Given the description of an element on the screen output the (x, y) to click on. 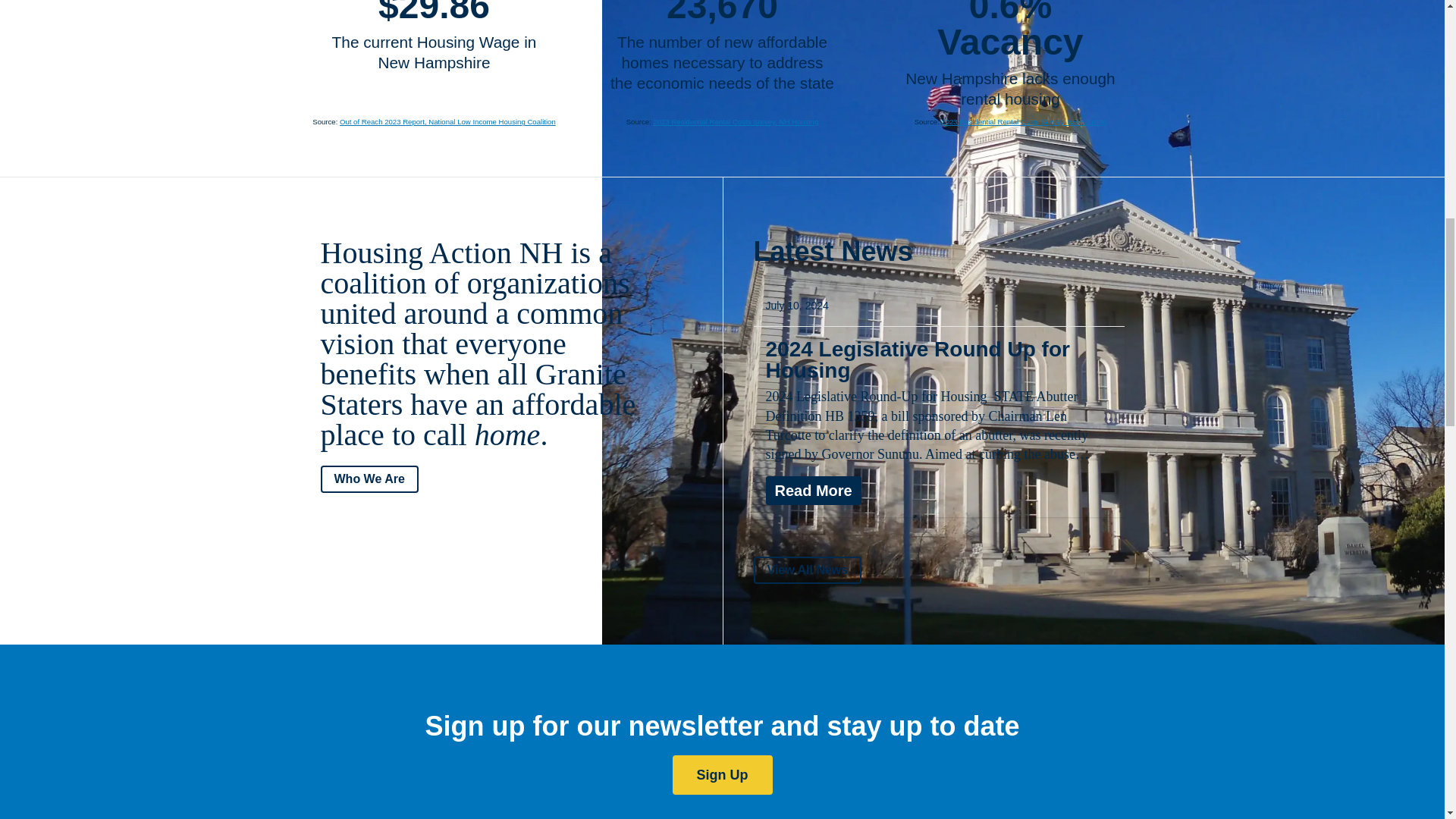
2023 Residential Rental Costs Survey, NH Housing (1023, 121)
View All News (807, 569)
2023 Residential Rental Costs Survey, NH Housing (735, 121)
Who We Are (368, 479)
Sign Up (721, 774)
